Given the description of an element on the screen output the (x, y) to click on. 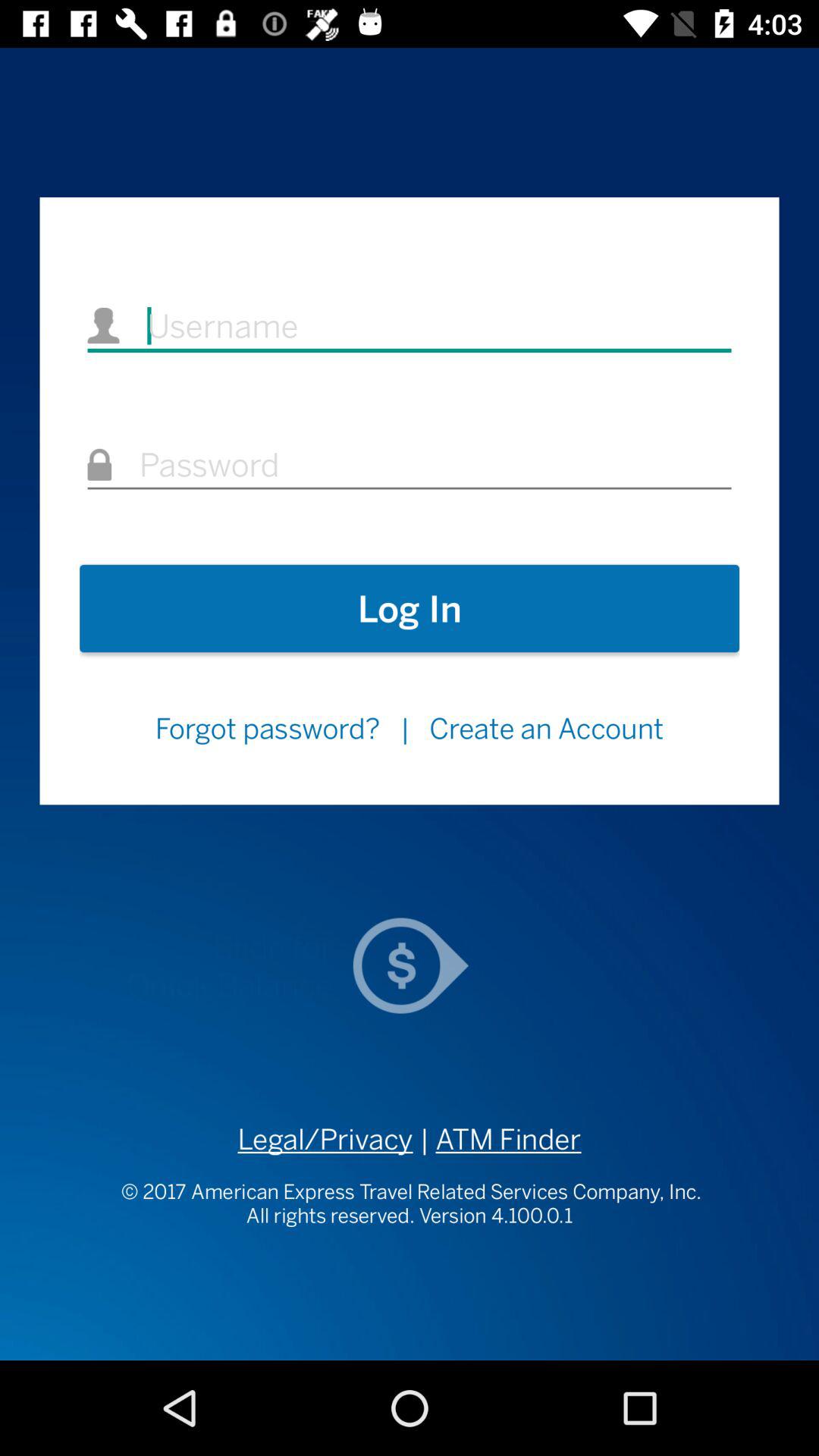
jump to create an account item (546, 728)
